Given the description of an element on the screen output the (x, y) to click on. 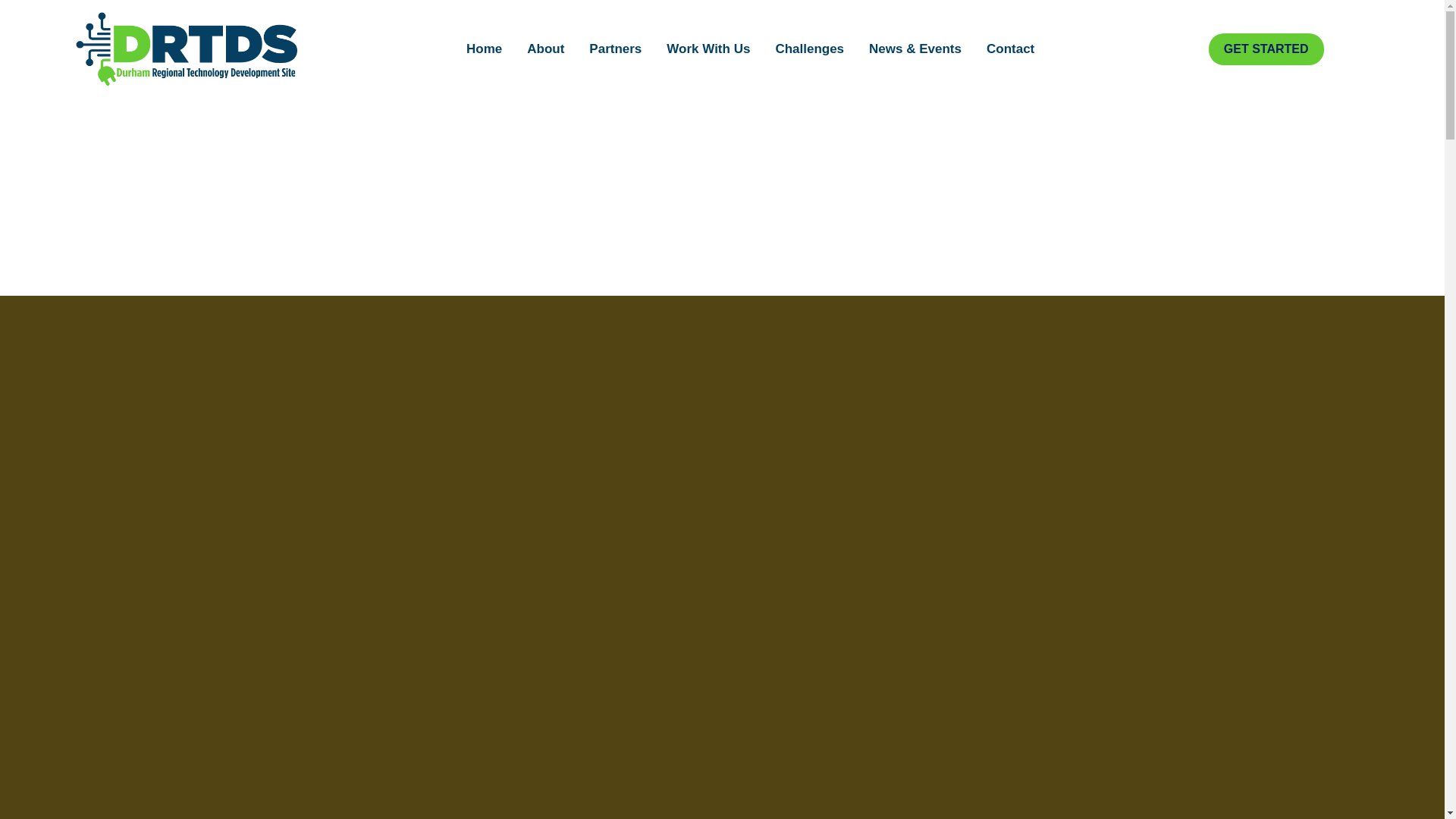
Home (483, 48)
Contact (1010, 48)
Work With Us (708, 48)
About (545, 48)
Partners (615, 48)
Challenges (809, 48)
